Given the description of an element on the screen output the (x, y) to click on. 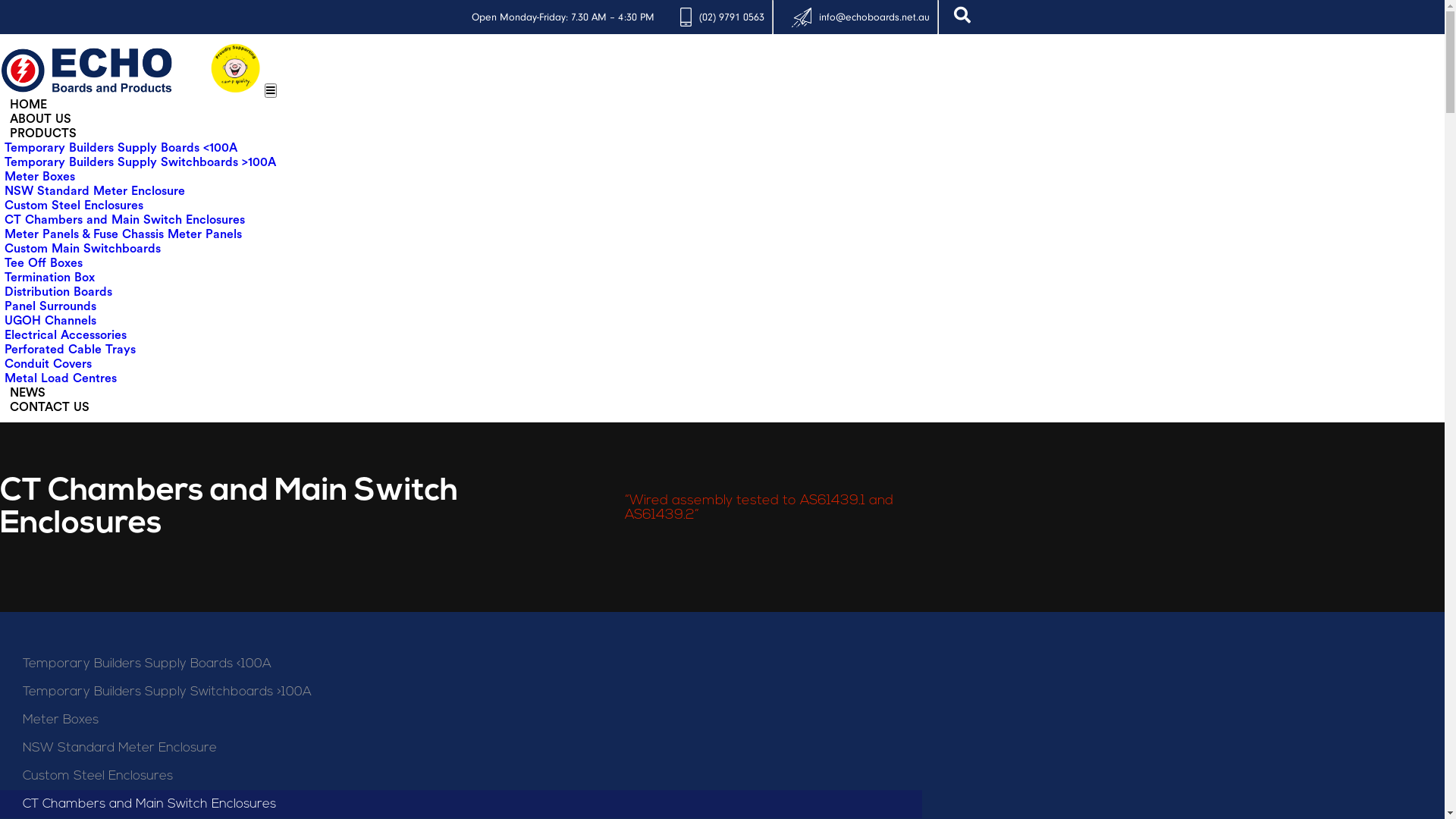
NSW Standard Meter Enclosure Element type: text (94, 191)
Conduit Covers Element type: text (47, 363)
HOME Element type: text (28, 104)
NEWS Element type: text (27, 392)
Perforated Cable Trays Element type: text (69, 349)
Temporary Builders Supply Boards <100A Element type: text (120, 147)
Panel Surrounds Element type: text (50, 306)
PRODUCTS Element type: text (42, 133)
CT Chambers and Main Switch Enclosures Element type: text (461, 804)
info@echoboards.net.au Element type: text (874, 16)
Meter Boxes Element type: text (461, 720)
(02) 9791 0563 Element type: text (731, 16)
UGOH Channels Element type: text (50, 320)
CONTACT US Element type: text (49, 406)
Meter Boxes Element type: text (39, 176)
Temporary Builders Supply Boards <100A Element type: text (461, 663)
Tee Off Boxes Element type: text (43, 263)
Metal Load Centres Element type: text (60, 378)
Custom Main Switchboards Element type: text (82, 248)
Distribution Boards Element type: text (58, 291)
NSW Standard Meter Enclosure Element type: text (461, 748)
Meter Panels & Fuse Chassis Meter Panels Element type: text (122, 234)
CT Chambers and Main Switch Enclosures Element type: text (124, 219)
Electrical Accessories Element type: text (65, 335)
Temporary Builders Supply Switchboards >100A Element type: text (140, 162)
ABOUT US Element type: text (40, 118)
Temporary Builders Supply Switchboards >100A Element type: text (461, 691)
Custom Steel Enclosures Element type: text (461, 776)
Termination Box Element type: text (49, 277)
Custom Steel Enclosures Element type: text (73, 205)
